Given the description of an element on the screen output the (x, y) to click on. 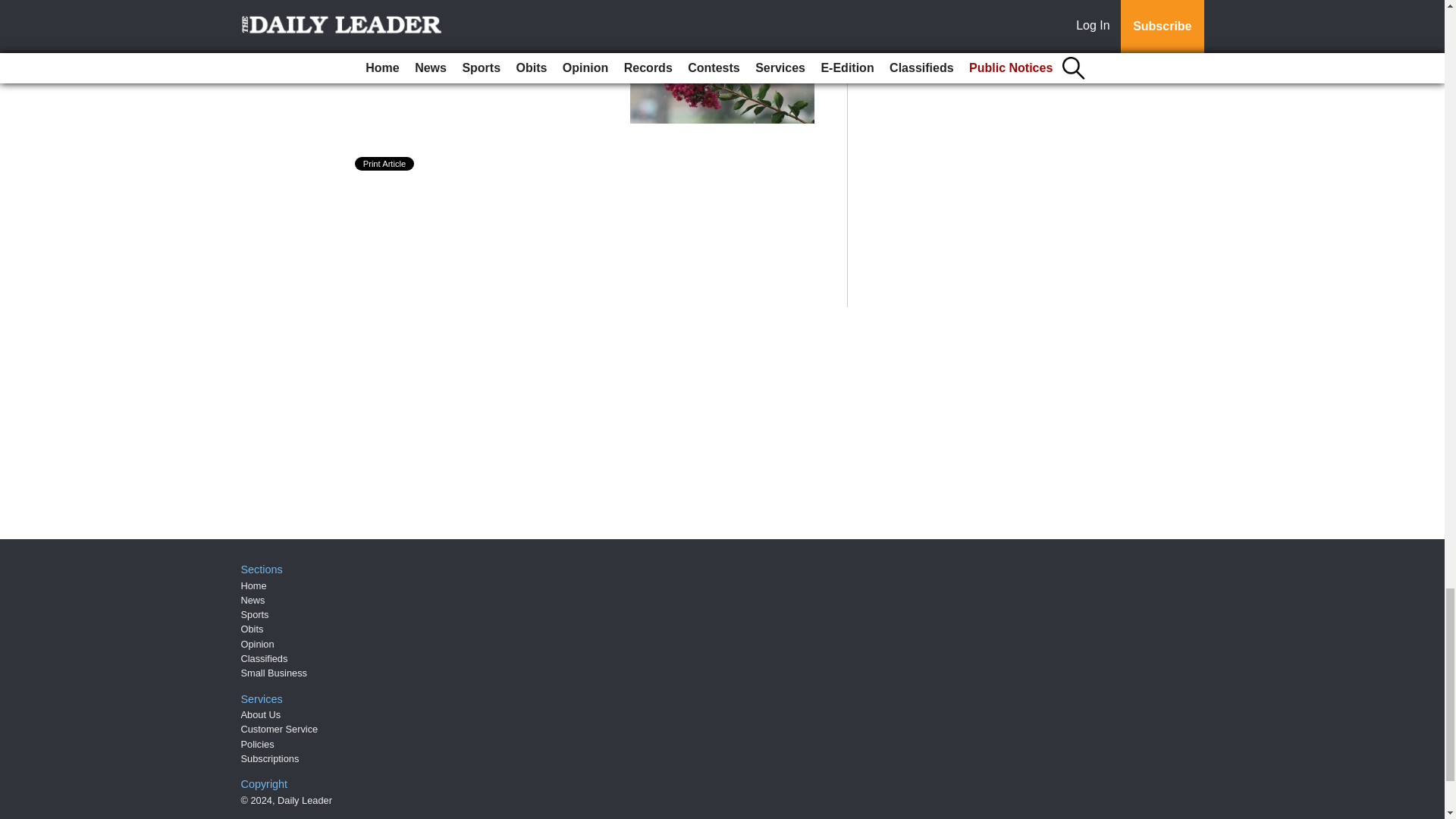
High rain chances this weekend (487, 28)
Print Article (384, 163)
High rain chances this weekend (487, 28)
